Given the description of an element on the screen output the (x, y) to click on. 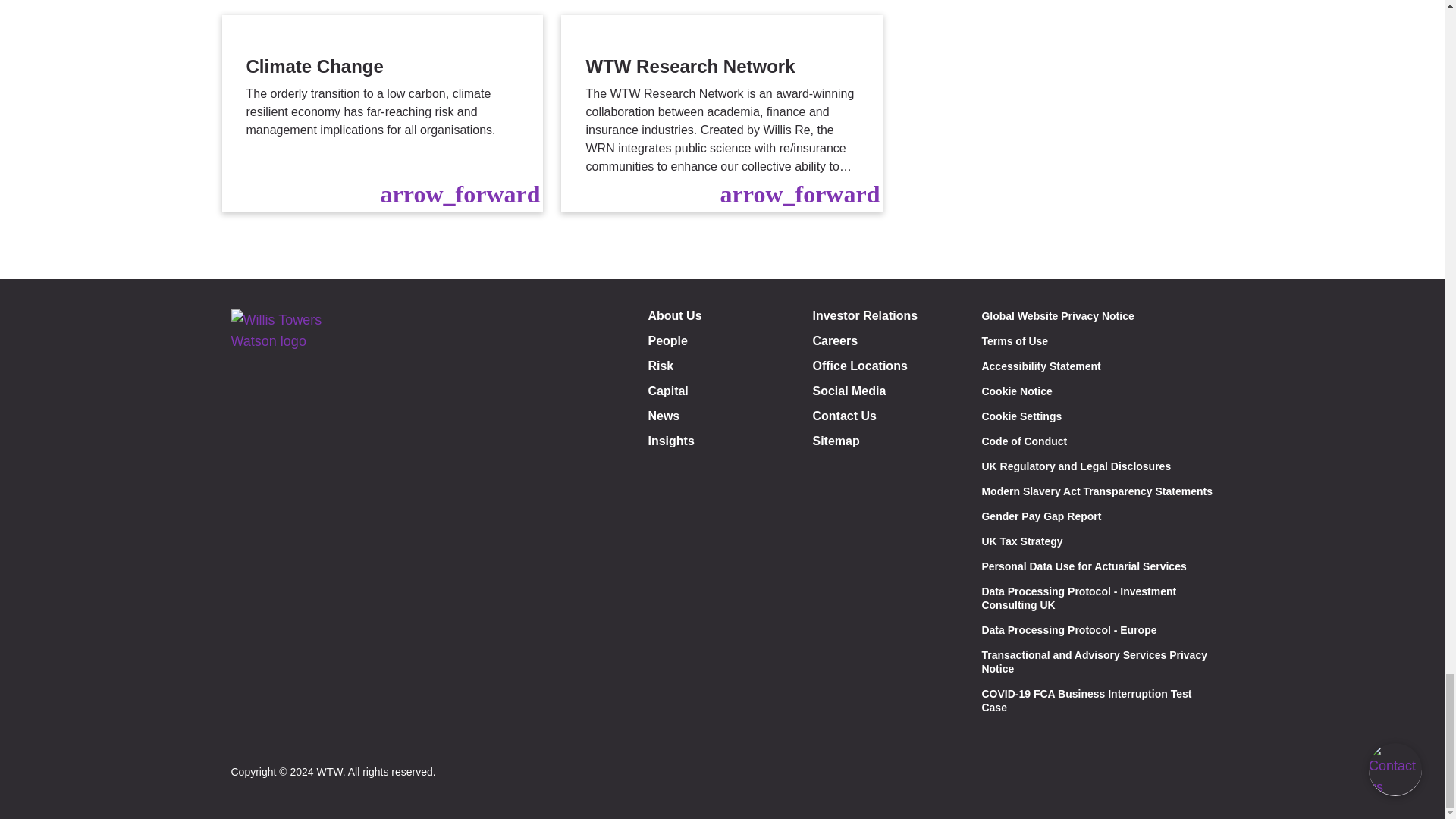
Instagram (320, 732)
Transactional and Advisory Services Privacy Notice (1094, 661)
UK Regulatory and Legal Disclosures (1075, 466)
Linkedin (287, 732)
WTW Research Network (721, 113)
Facebook (252, 732)
Climate Change (382, 113)
